Given the description of an element on the screen output the (x, y) to click on. 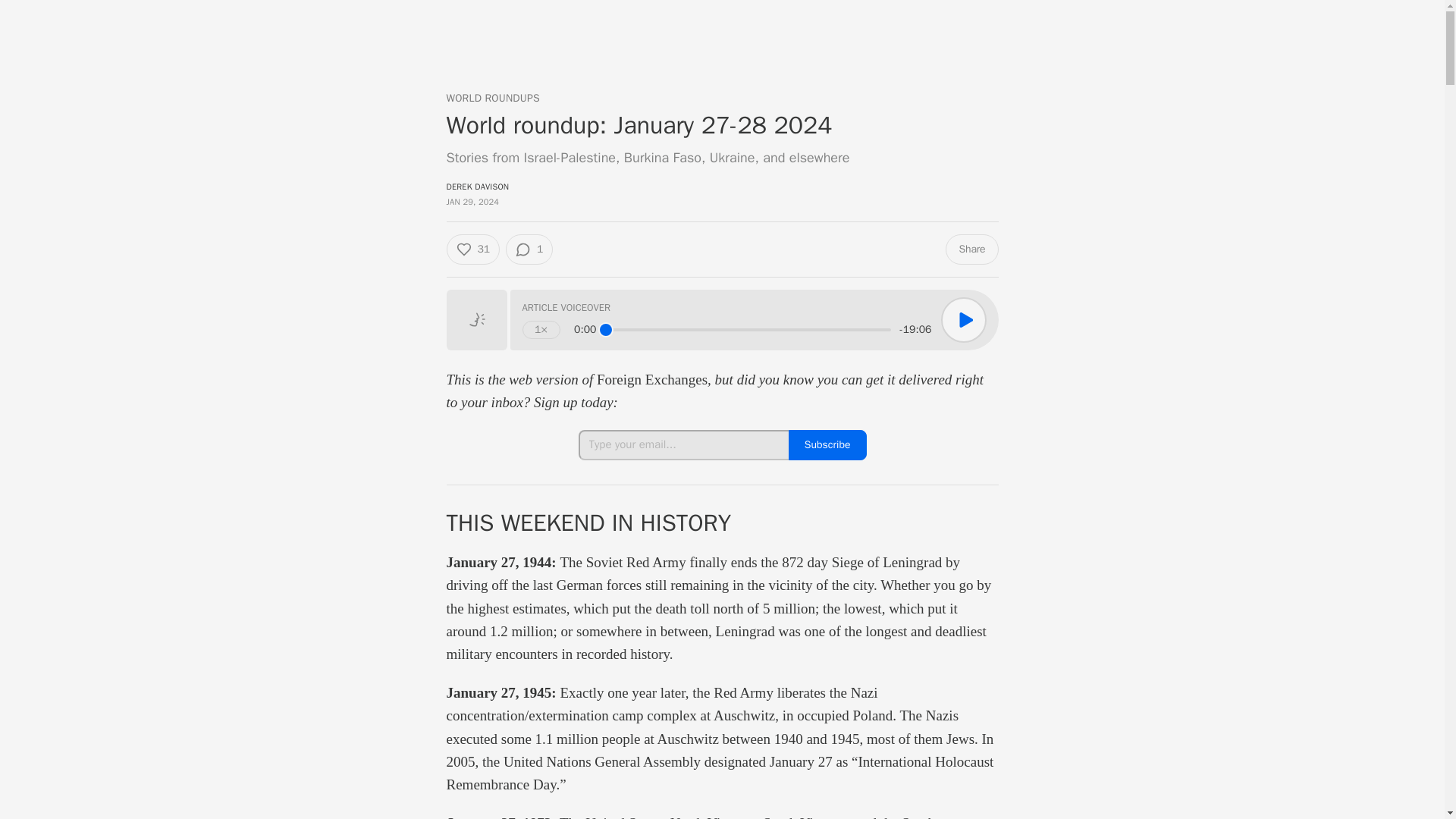
31 (472, 249)
Subscribe (827, 444)
WORLD ROUNDUPS (491, 98)
1 (529, 249)
Share (970, 249)
DEREK DAVISON (476, 185)
